Given the description of an element on the screen output the (x, y) to click on. 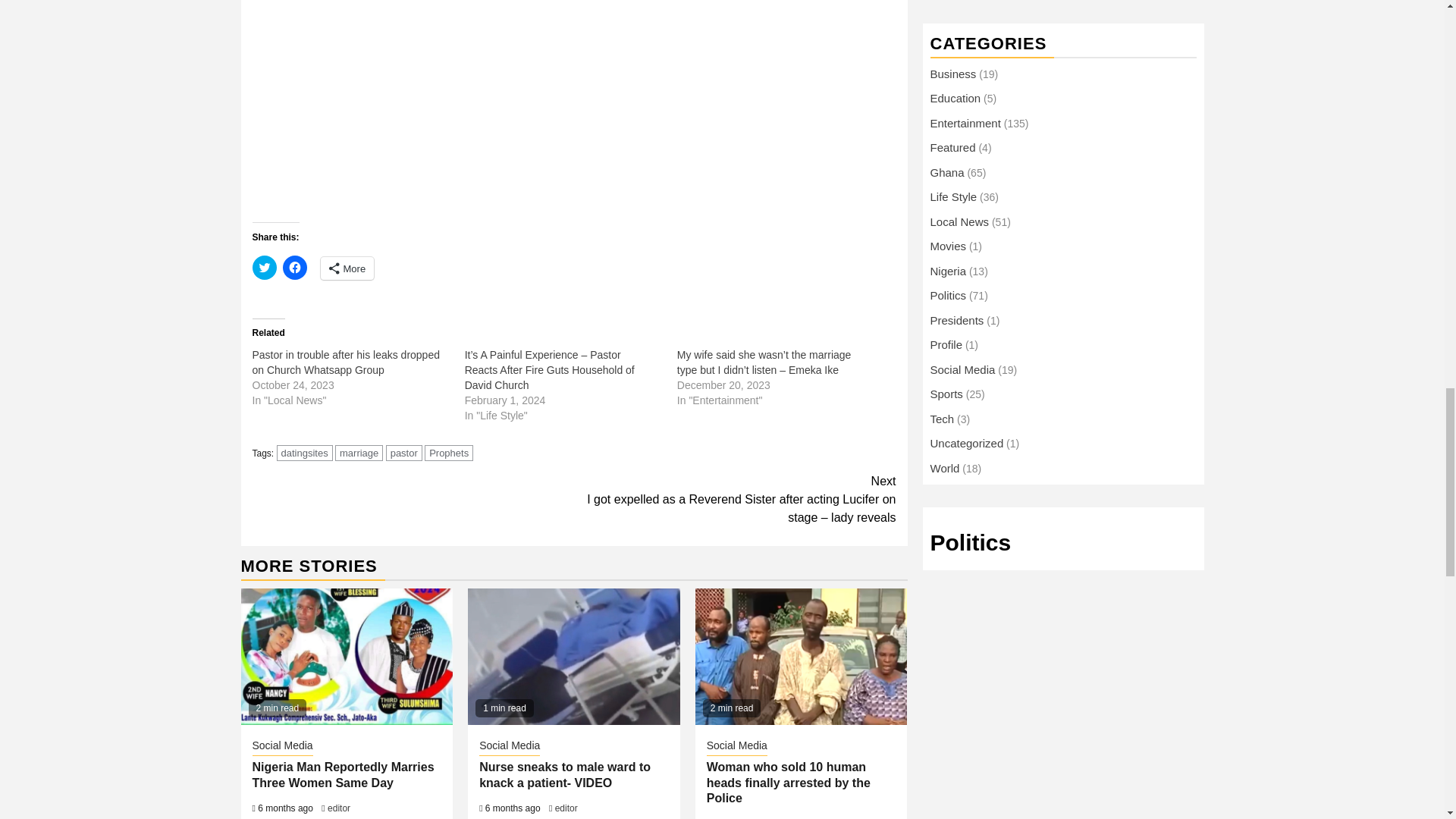
Click to share on Facebook (293, 267)
datingsites (304, 453)
Click to share on Twitter (263, 267)
More (347, 268)
